Given the description of an element on the screen output the (x, y) to click on. 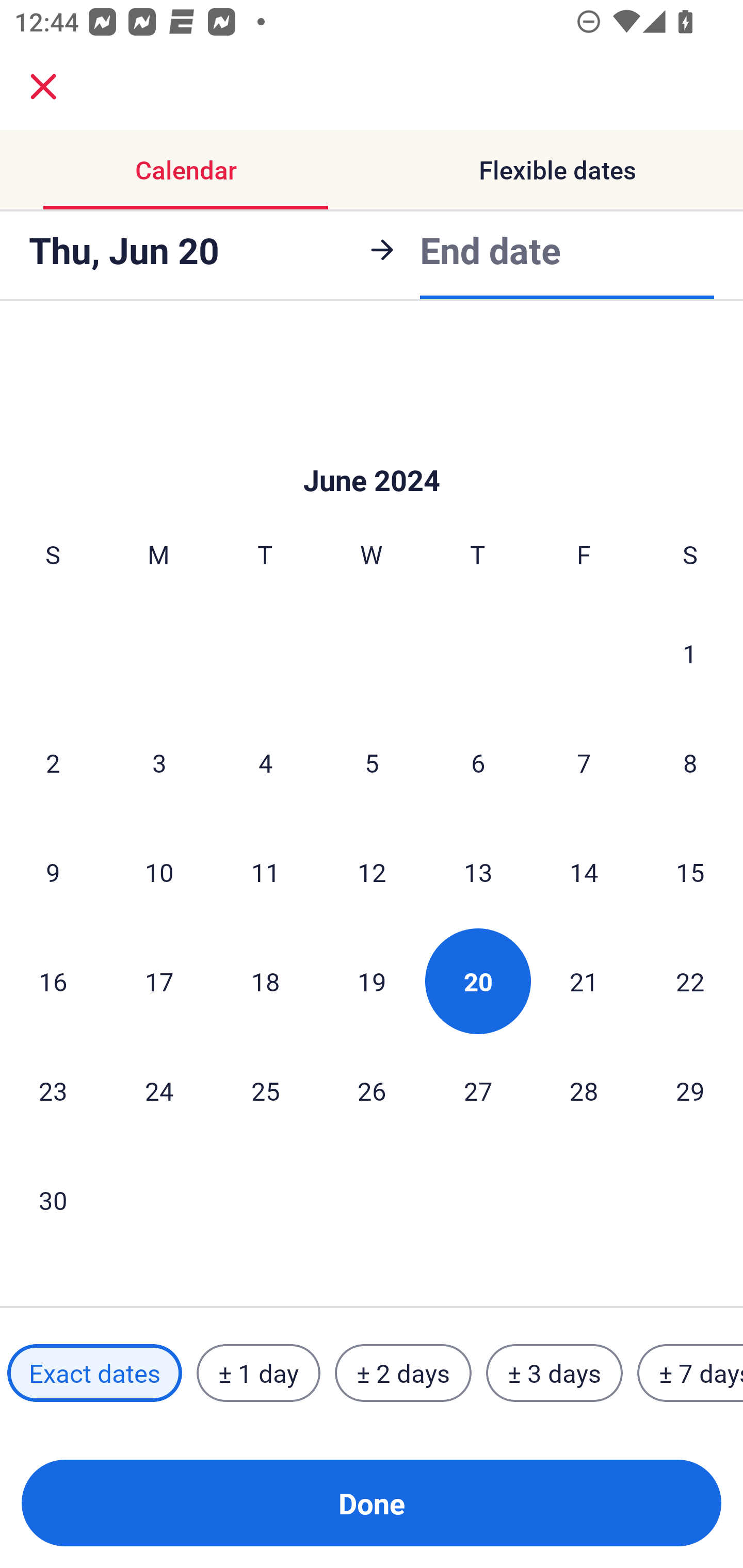
close. (43, 86)
Flexible dates (557, 170)
End date (489, 246)
Skip to Done (371, 449)
1 Saturday, June 1, 2024 (689, 652)
2 Sunday, June 2, 2024 (53, 762)
3 Monday, June 3, 2024 (159, 762)
4 Tuesday, June 4, 2024 (265, 762)
5 Wednesday, June 5, 2024 (371, 762)
6 Thursday, June 6, 2024 (477, 762)
7 Friday, June 7, 2024 (584, 762)
8 Saturday, June 8, 2024 (690, 762)
9 Sunday, June 9, 2024 (53, 871)
10 Monday, June 10, 2024 (159, 871)
11 Tuesday, June 11, 2024 (265, 871)
12 Wednesday, June 12, 2024 (371, 871)
13 Thursday, June 13, 2024 (477, 871)
14 Friday, June 14, 2024 (584, 871)
15 Saturday, June 15, 2024 (690, 871)
16 Sunday, June 16, 2024 (53, 981)
17 Monday, June 17, 2024 (159, 981)
18 Tuesday, June 18, 2024 (265, 981)
19 Wednesday, June 19, 2024 (371, 981)
21 Friday, June 21, 2024 (584, 981)
22 Saturday, June 22, 2024 (690, 981)
23 Sunday, June 23, 2024 (53, 1090)
24 Monday, June 24, 2024 (159, 1090)
25 Tuesday, June 25, 2024 (265, 1090)
26 Wednesday, June 26, 2024 (371, 1090)
27 Thursday, June 27, 2024 (477, 1090)
28 Friday, June 28, 2024 (584, 1090)
29 Saturday, June 29, 2024 (690, 1090)
30 Sunday, June 30, 2024 (53, 1199)
Exact dates (94, 1372)
± 1 day (258, 1372)
± 2 days (403, 1372)
± 3 days (553, 1372)
± 7 days (690, 1372)
Done (371, 1502)
